Given the description of an element on the screen output the (x, y) to click on. 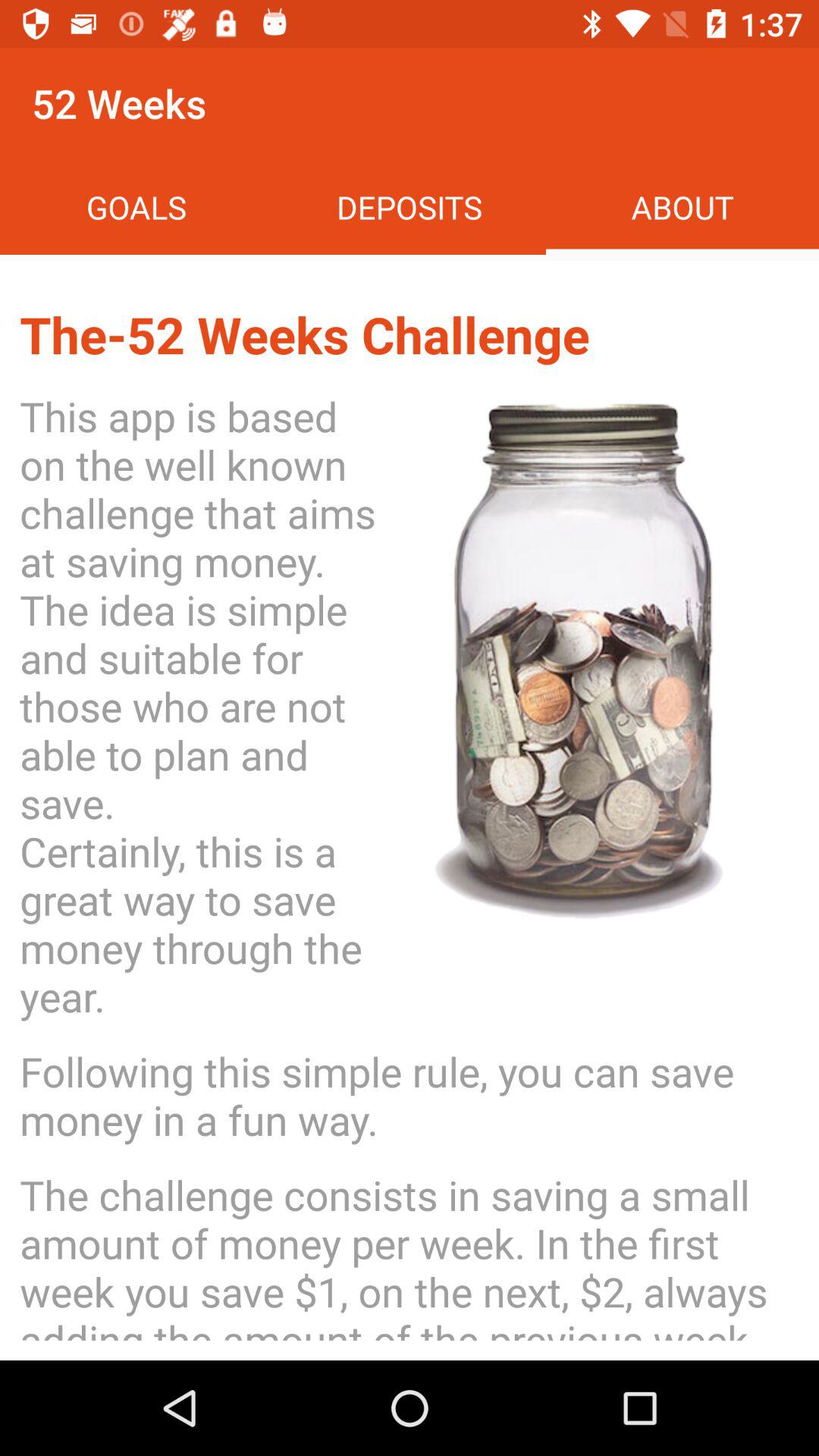
choose the icon above the the 52 weeks icon (682, 206)
